Given the description of an element on the screen output the (x, y) to click on. 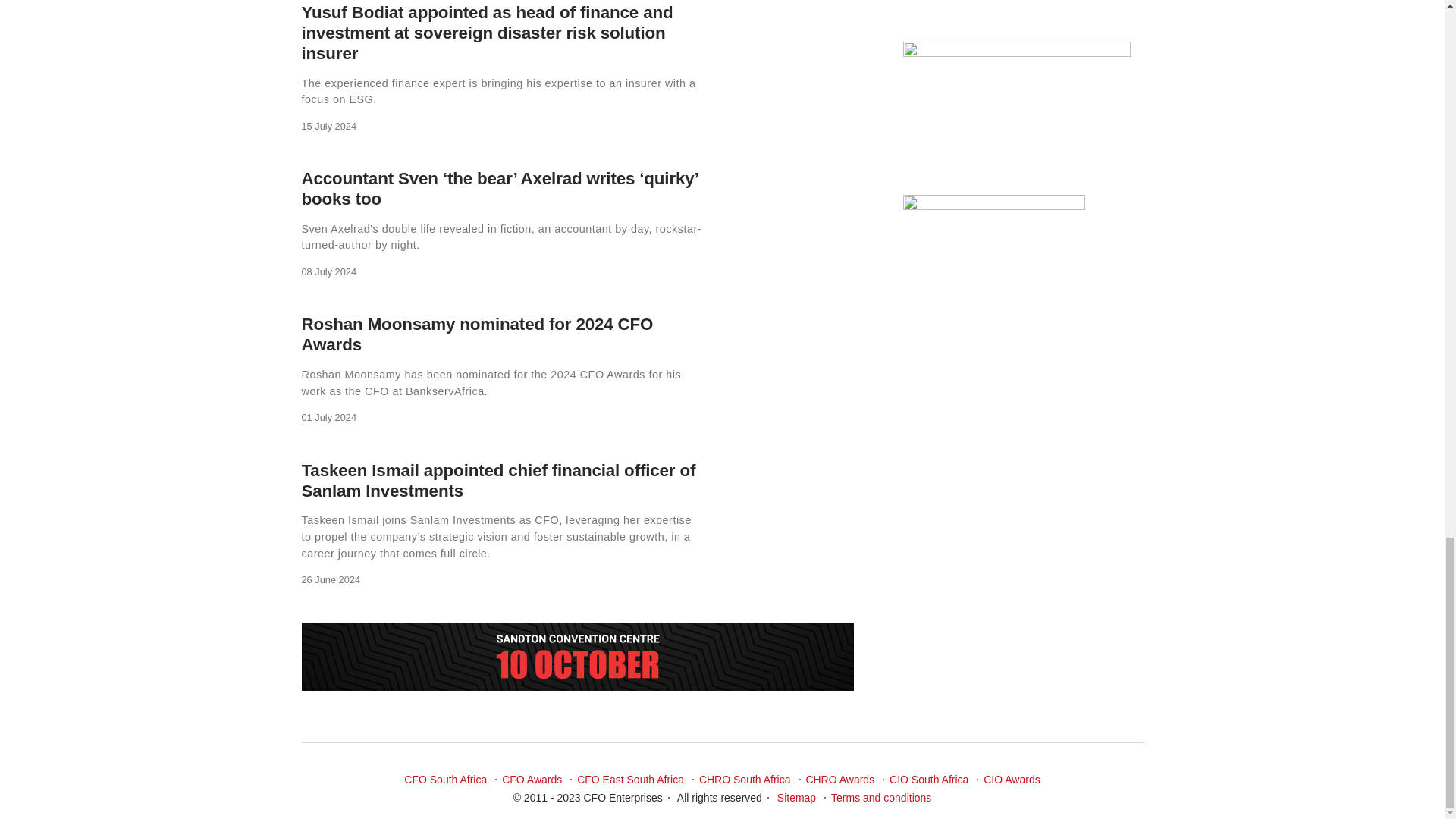
Roshan Moonsamy nominated for 2024 CFO Awards (477, 333)
